Given the description of an element on the screen output the (x, y) to click on. 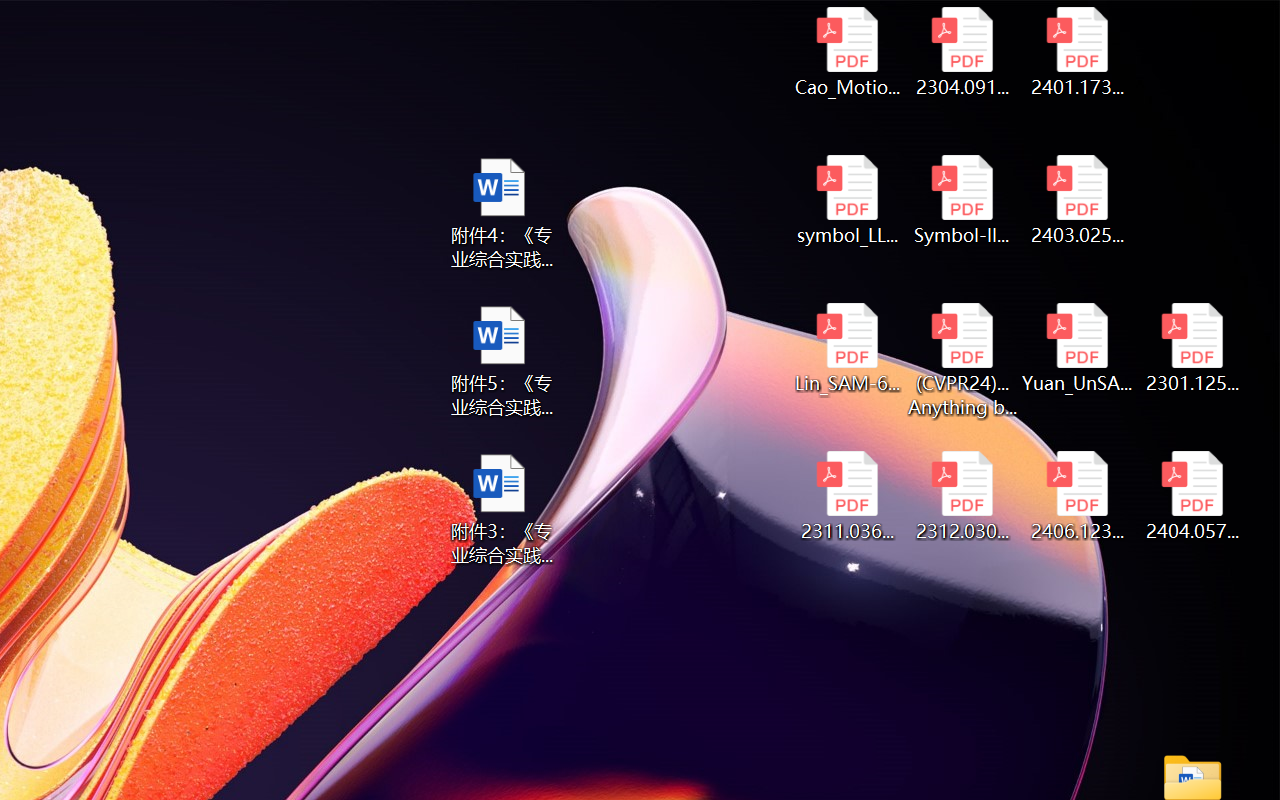
2403.02502v1.pdf (1077, 200)
2301.12597v3.pdf (1192, 348)
